Given the description of an element on the screen output the (x, y) to click on. 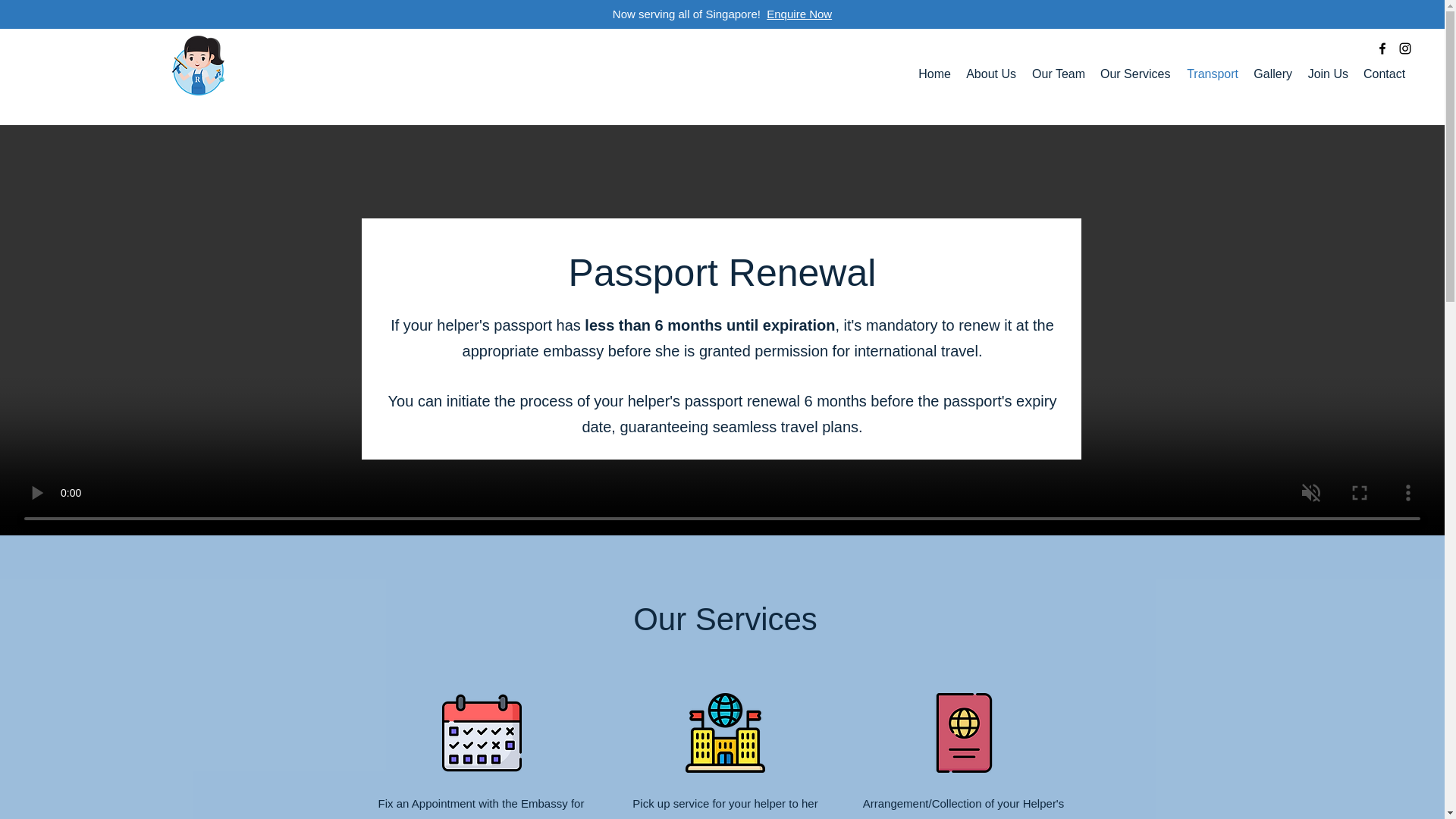
Join Us (1327, 74)
Home (934, 74)
About Us (990, 74)
Our Services (1135, 74)
Enquire Now (799, 13)
Our Team (1058, 74)
Transport (1211, 74)
Contact (1383, 74)
Gallery (1273, 74)
